Given the description of an element on the screen output the (x, y) to click on. 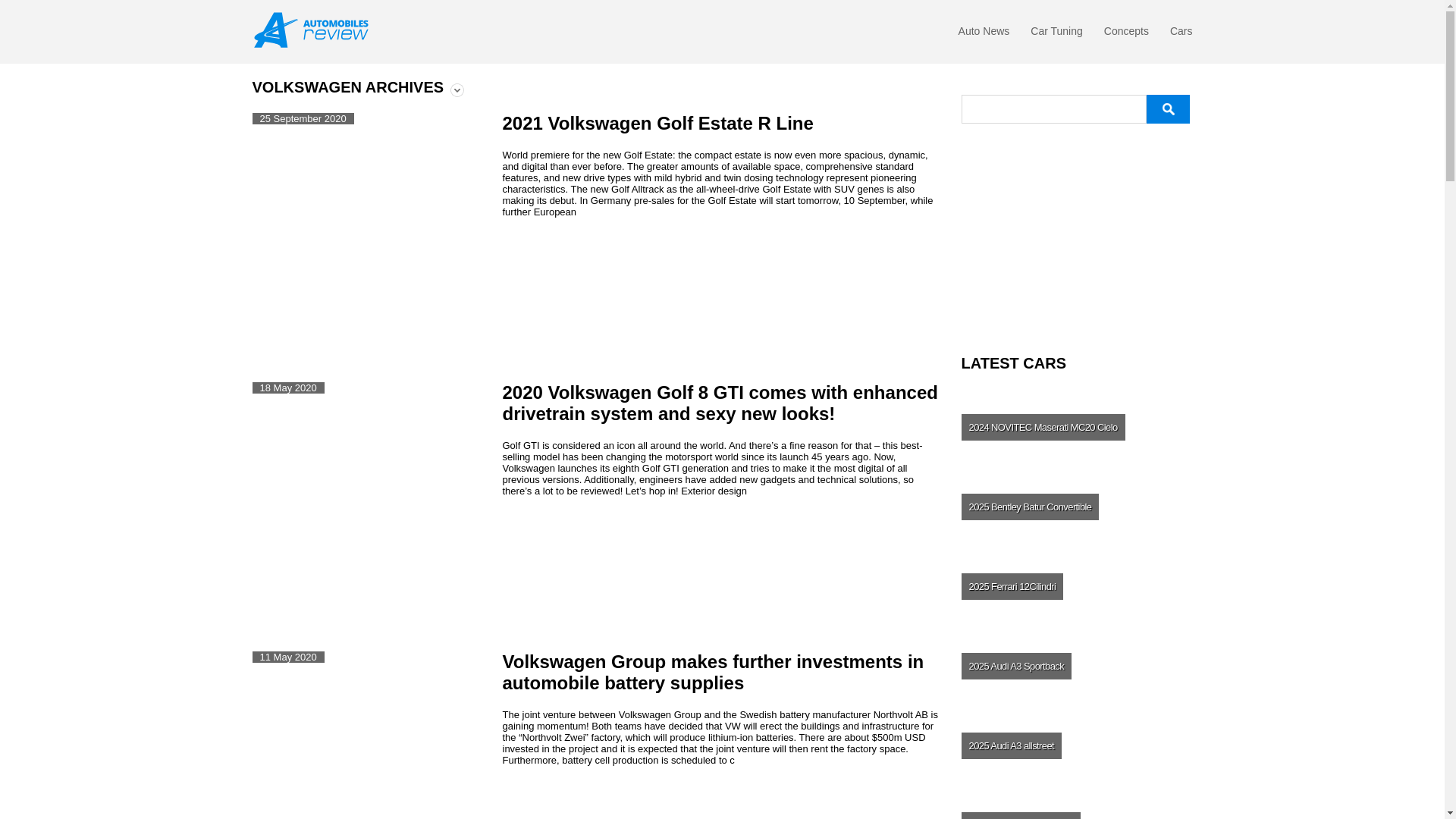
Bentley Continental GT (1074, 209)
Concepts (1125, 35)
Automobilesreview.com (315, 30)
Auto News (984, 35)
Concepts (1125, 35)
Fiat Punto Evo (998, 209)
Volkswagen Golf Estate R Line (680, 123)
WALD Nissan GT-R Sports Line Black Bison Edition (1074, 151)
Subaru BRZ STI Concept AIMS (998, 267)
Noble M600 (1153, 151)
ABT  Audi S8 (1074, 267)
Cars (1181, 35)
Chrysler 300 (1153, 209)
